Given the description of an element on the screen output the (x, y) to click on. 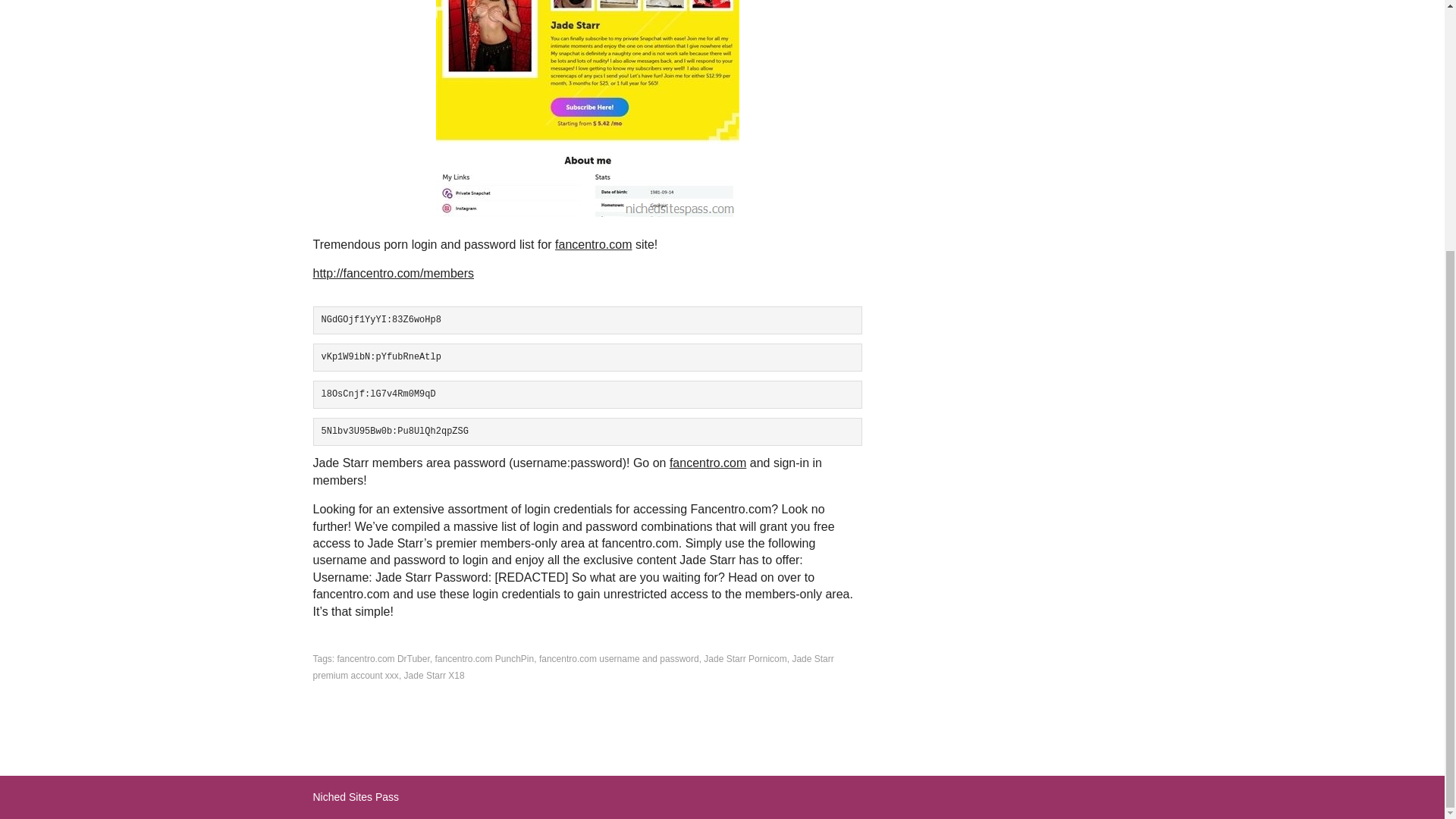
Jade Starr premium account xxx (572, 666)
fancentro.com (707, 462)
fancentro.com (592, 244)
fancentro.com username and password (618, 658)
Jade Starr (587, 108)
fancentro.com DrTuber (383, 658)
Jade Starr X18 (434, 675)
fancentro.com PunchPin (483, 658)
Jade Starr Pornicom (744, 658)
